Given the description of an element on the screen output the (x, y) to click on. 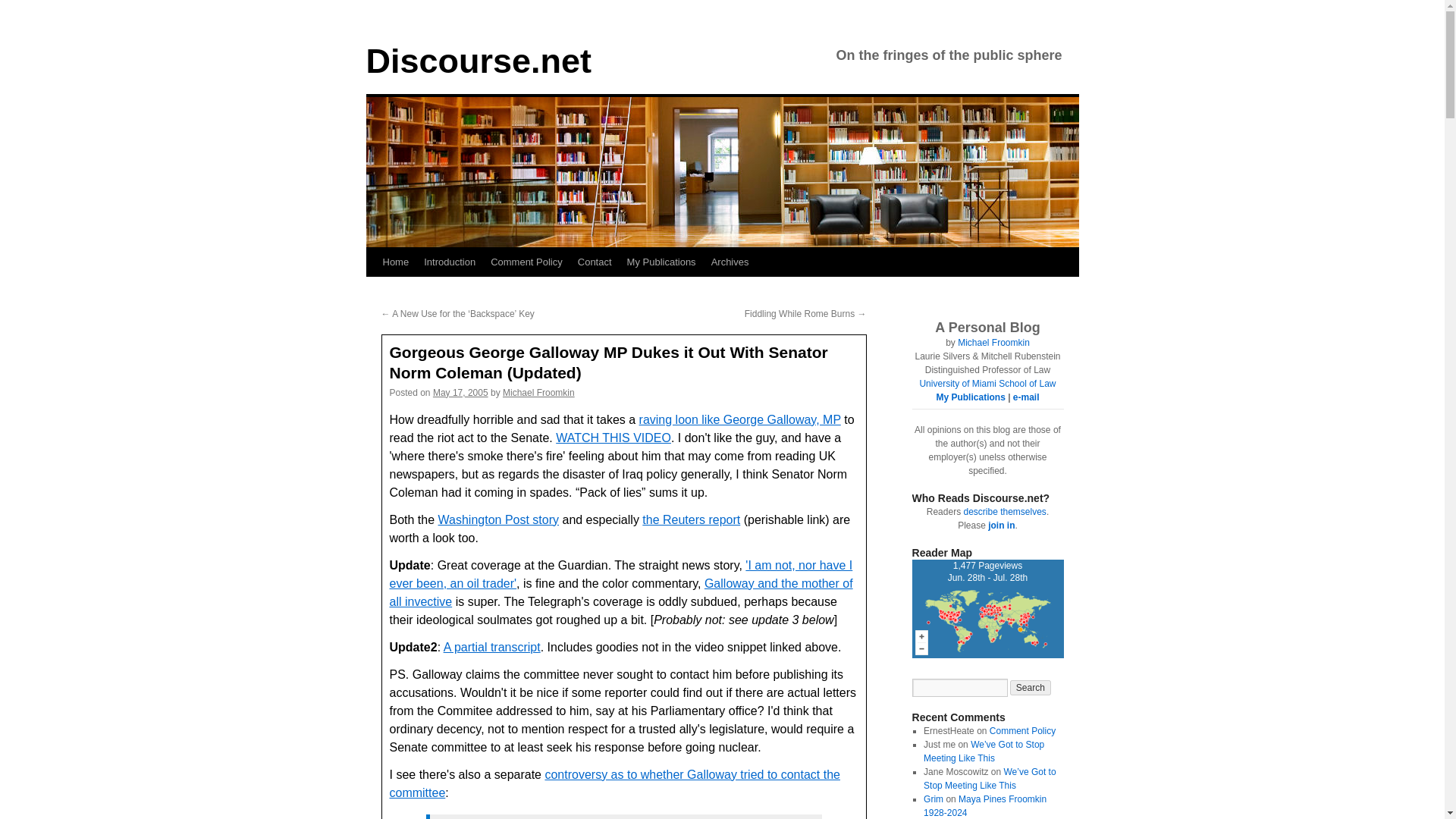
'I am not, nor have I ever been, an oil trader' (621, 573)
Introduction (449, 262)
Archives (730, 262)
Home (395, 262)
Most are available online (970, 397)
View all posts by Michael Froomkin (538, 392)
Comment Policy (526, 262)
the Reuters report (690, 519)
May 17, 2005 (459, 392)
Contact (595, 262)
My homepage (993, 342)
Where I work (986, 383)
6:11 pm (459, 392)
instructions on how to deduce my email (1026, 397)
Discourse.net (478, 60)
